Given the description of an element on the screen output the (x, y) to click on. 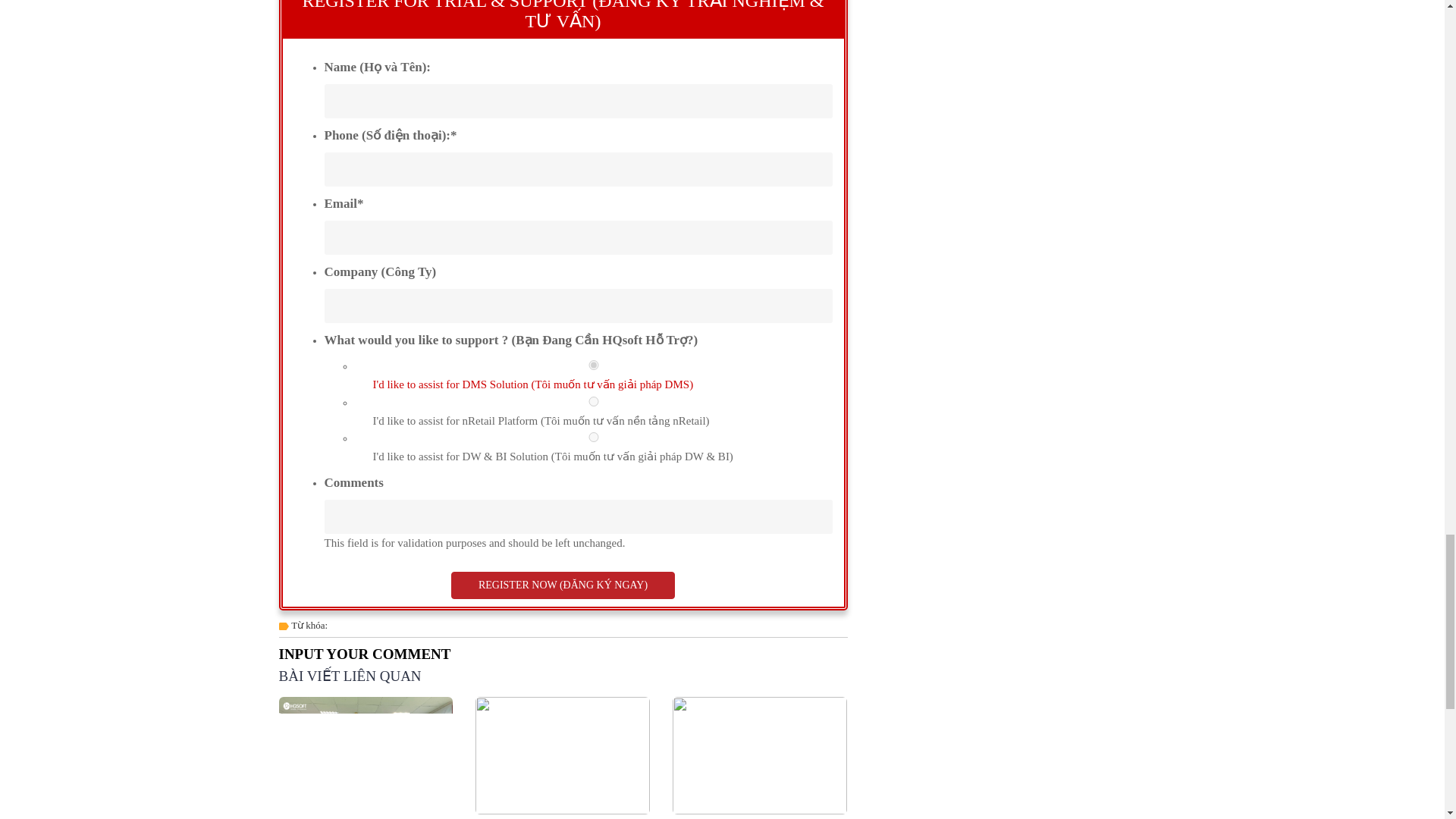
DMS (593, 365)
DWBI (593, 437)
nRetail (593, 401)
